Given the description of an element on the screen output the (x, y) to click on. 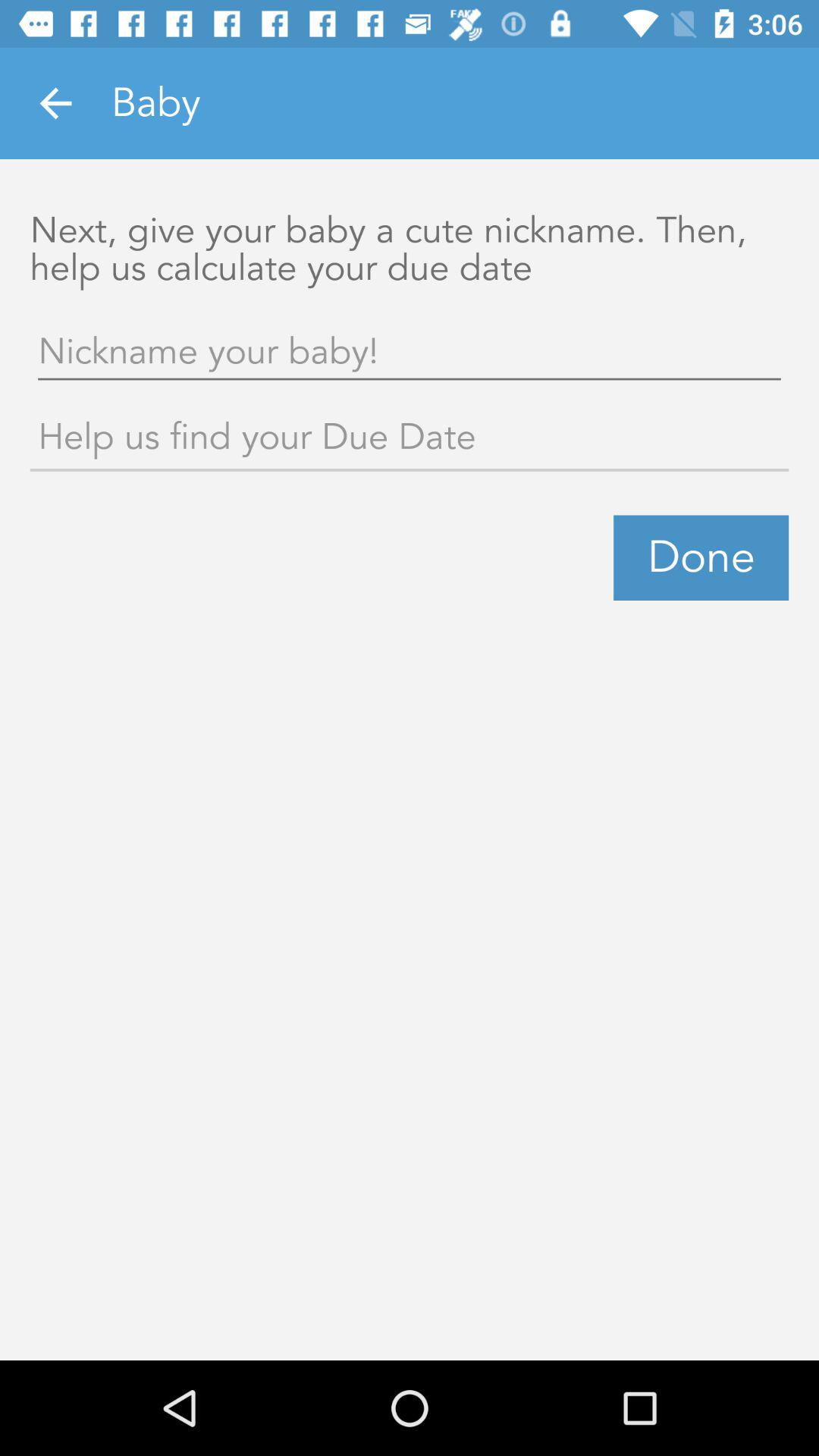
turn off item above next give your (55, 103)
